Given the description of an element on the screen output the (x, y) to click on. 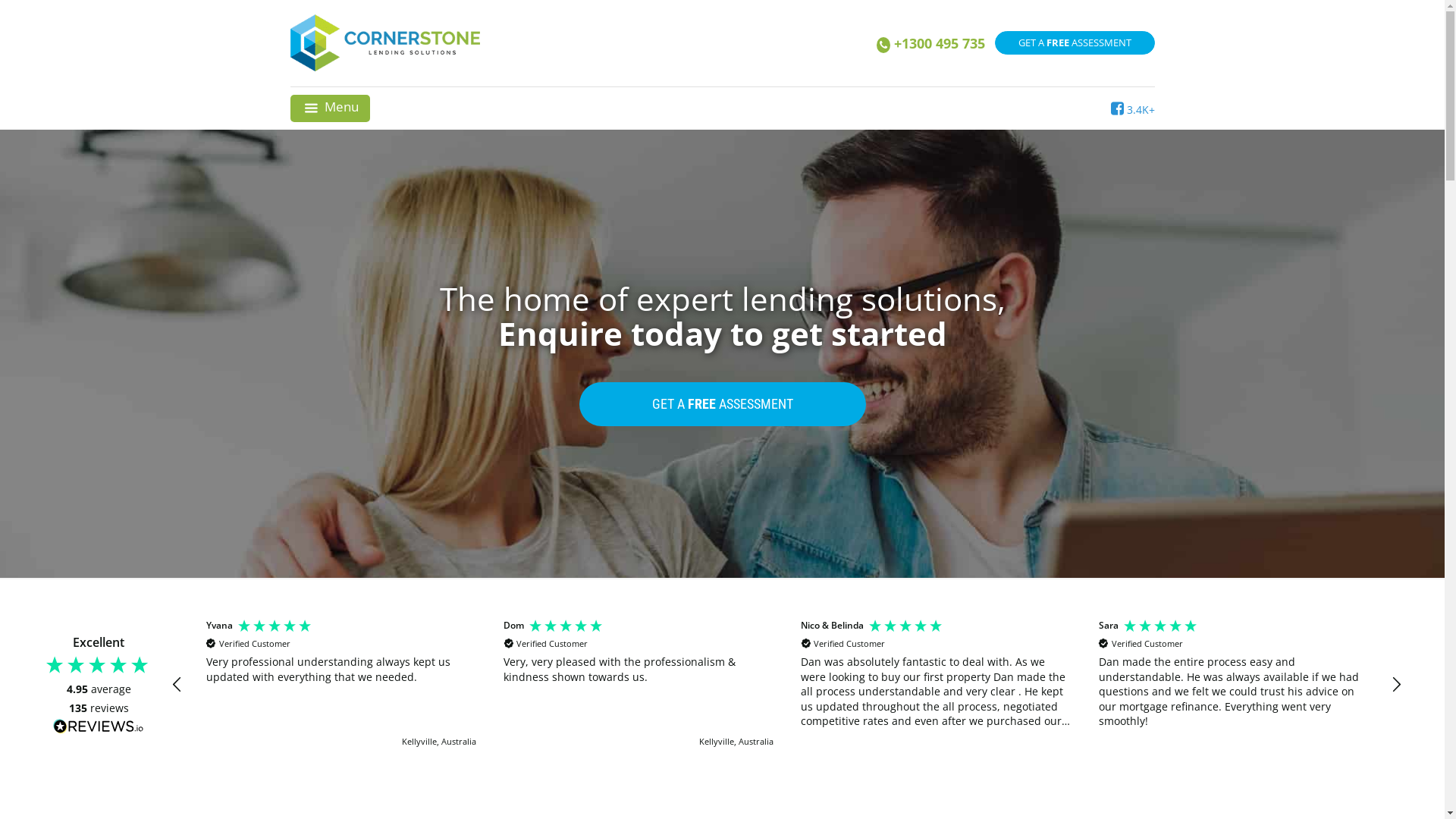
5 Stars Element type: hover (1161, 627)
5 Stars Element type: hover (567, 627)
4.95 Stars Element type: hover (96, 664)
5 Stars Element type: hover (276, 627)
3.4K+ Element type: text (1132, 109)
Read more reviews on REVIEWS.io Element type: hover (98, 726)
GET A FREE ASSESSMENT Element type: text (1074, 42)
5 Stars Element type: hover (907, 627)
GET A FREE ASSESSMENT Element type: text (722, 404)
Menu Element type: text (329, 108)
+1300 495 735 Element type: text (930, 45)
